Given the description of an element on the screen output the (x, y) to click on. 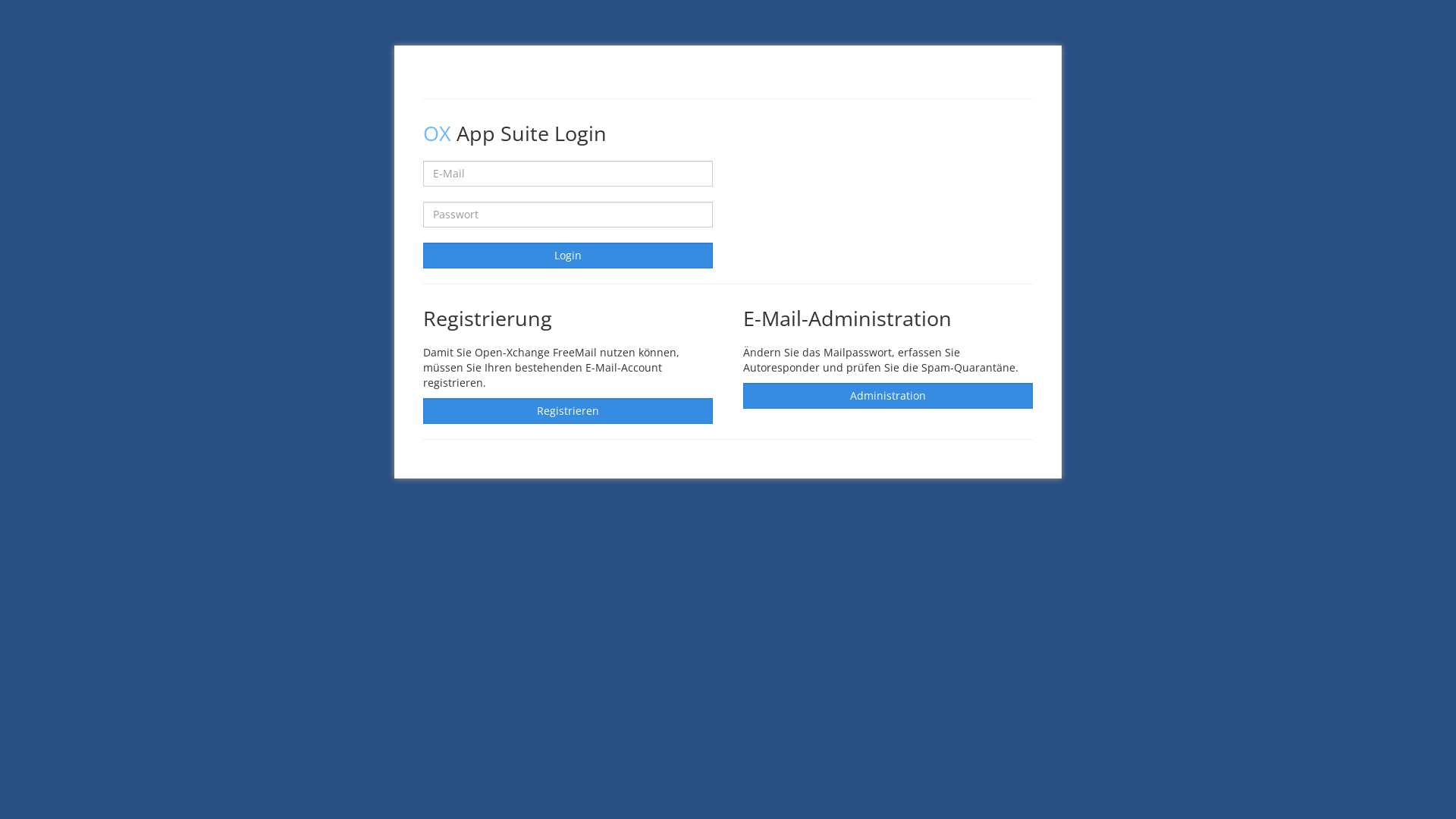
Registrieren Element type: text (567, 410)
Administration Element type: text (887, 395)
